Given the description of an element on the screen output the (x, y) to click on. 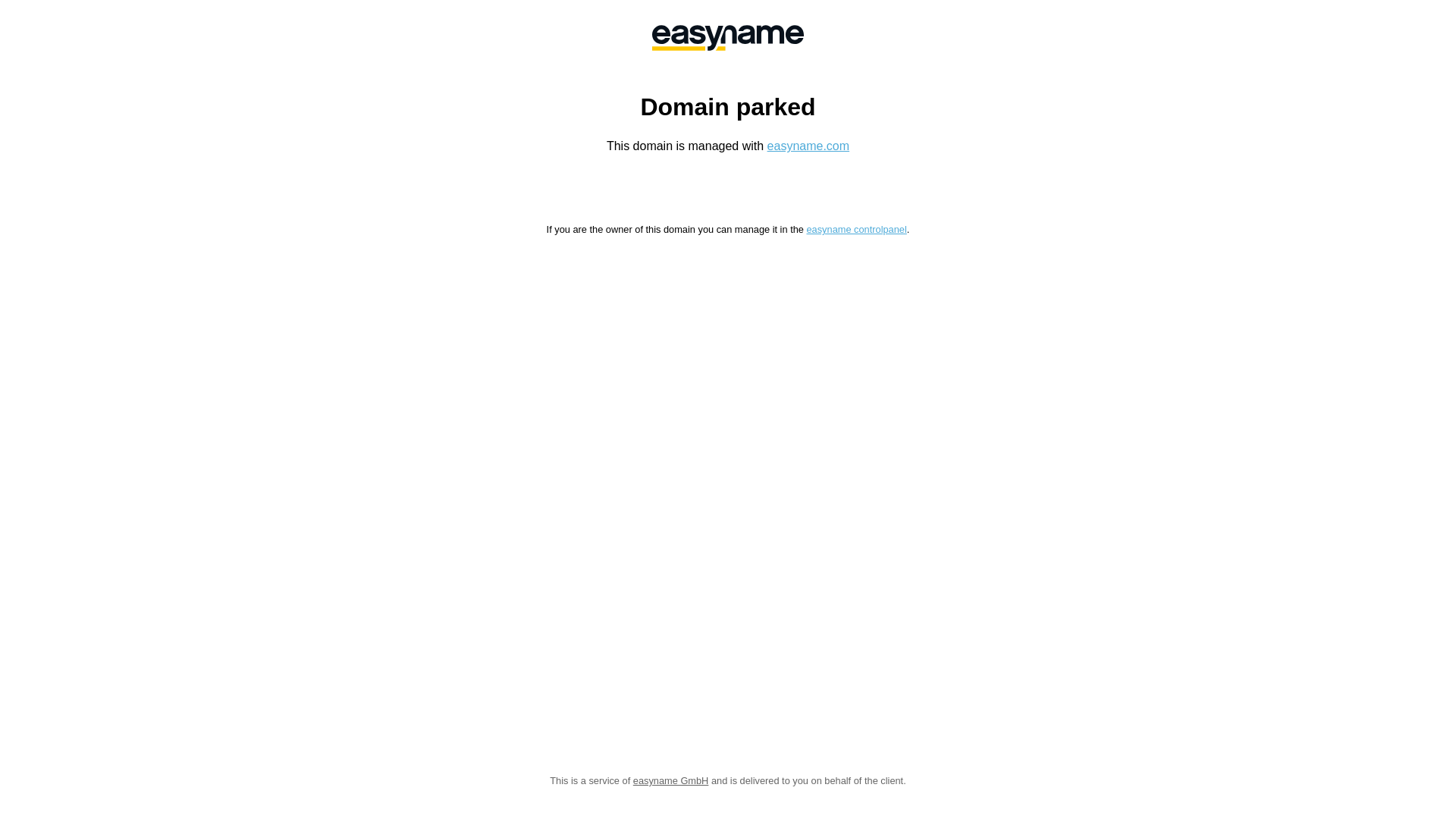
easyname GmbH Element type: text (671, 780)
easyname GmbH Element type: hover (727, 37)
easyname controlpanel Element type: text (856, 229)
easyname.com Element type: text (808, 145)
